Given the description of an element on the screen output the (x, y) to click on. 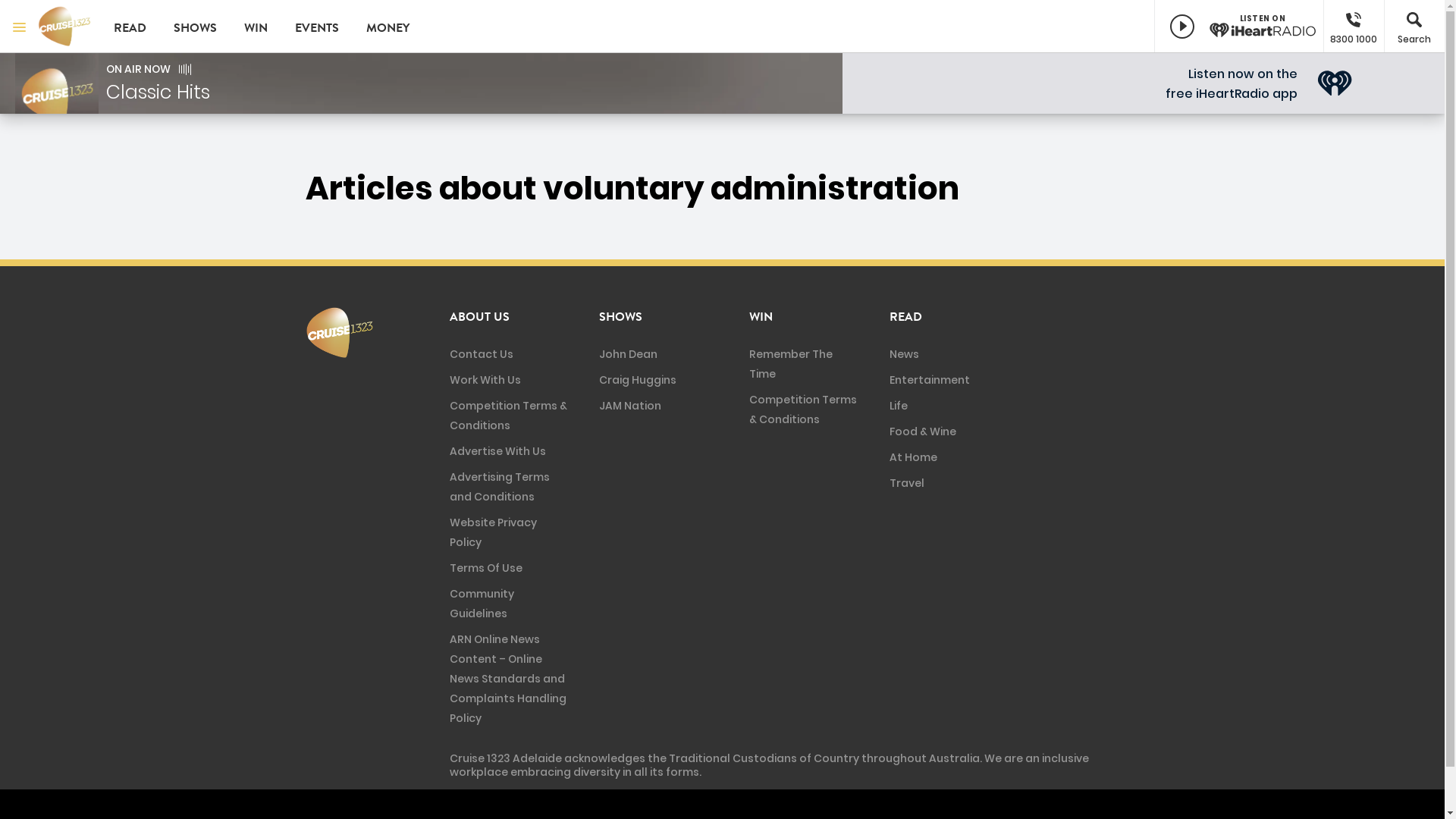
JAM Nation Element type: text (630, 405)
Food & Wine Element type: text (922, 431)
SHOWS Element type: text (194, 26)
Entertainment Element type: text (929, 379)
EVENTS Element type: text (316, 26)
Terms Of Use Element type: text (484, 567)
iHeart Element type: text (1334, 82)
MONEY Element type: text (387, 26)
John Dean Element type: text (628, 353)
WIN Element type: text (760, 316)
READ Element type: text (905, 316)
News Element type: text (904, 353)
Contact Us Element type: text (480, 353)
Life Element type: text (898, 405)
Competition Terms & Conditions Element type: text (802, 409)
Remember The Time Element type: text (790, 363)
Search Element type: text (1413, 26)
Advertising Terms and Conditions Element type: text (498, 486)
Community Guidelines Element type: text (480, 603)
Menu Element type: text (18, 26)
WIN Element type: text (255, 26)
Travel Element type: text (906, 482)
ABOUT US Element type: text (478, 316)
Classic Hits Element type: text (158, 92)
Work With Us Element type: text (484, 379)
Competition Terms & Conditions Element type: text (507, 415)
8300 1000 Element type: text (1353, 26)
Advertise With Us Element type: text (496, 450)
READ Element type: text (129, 26)
ON AIR NOW Element type: text (138, 68)
SHOWS Element type: text (620, 316)
At Home Element type: text (913, 456)
Craig Huggins Element type: text (637, 379)
Listen now on the
free iHeartRadio app Element type: text (1231, 83)
LISTEN ON Element type: text (1238, 26)
Website Privacy Policy Element type: text (492, 531)
